Given the description of an element on the screen output the (x, y) to click on. 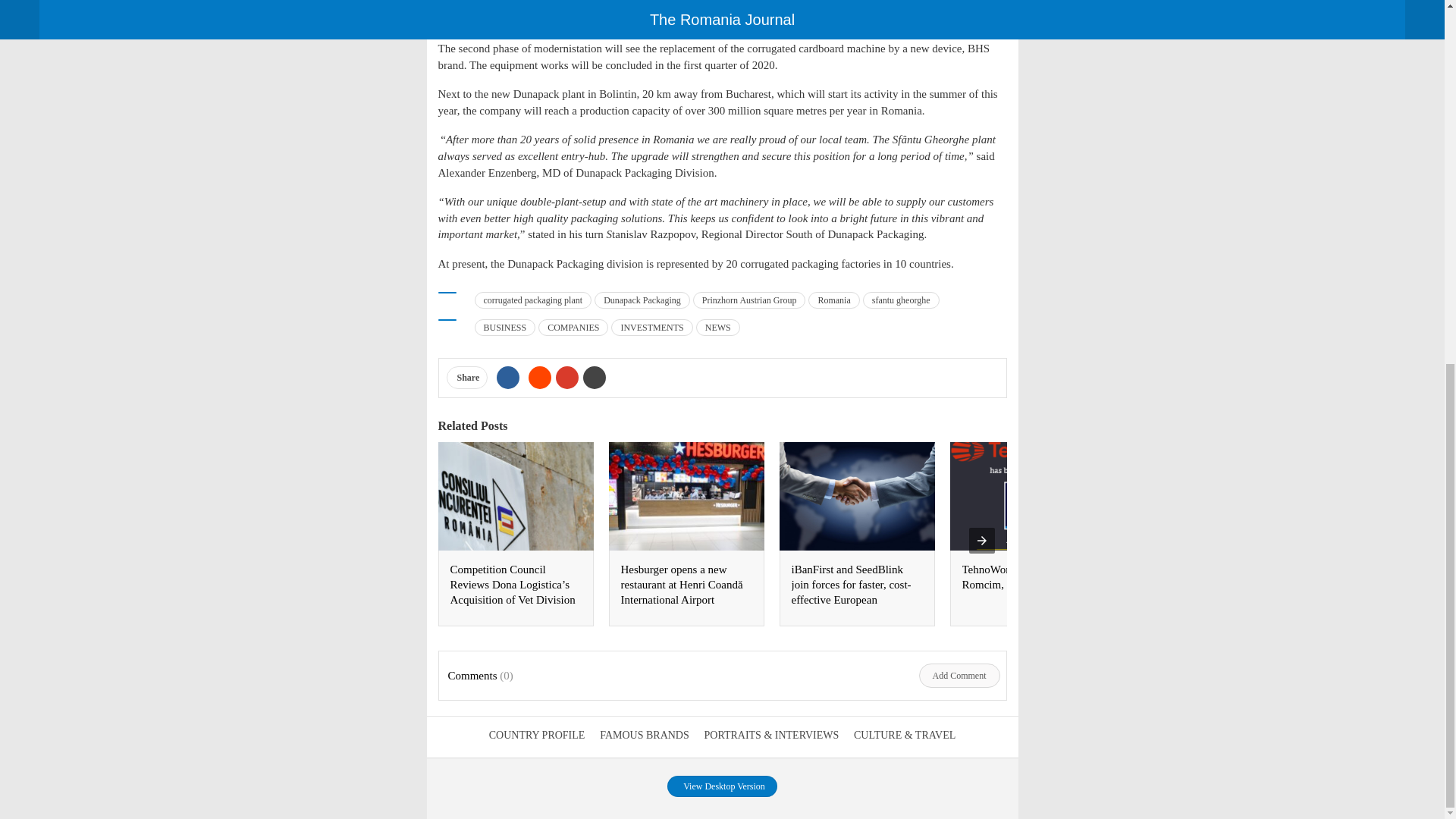
COMPANIES (573, 327)
FAMOUS BRANDS (643, 735)
Add Comment (959, 675)
View Desktop Version (721, 785)
NEWS (717, 327)
COUNTRY PROFILE (537, 735)
sfantu gheorghe (901, 299)
INVESTMENTS (652, 327)
Dunapack Packaging (642, 299)
